Given the description of an element on the screen output the (x, y) to click on. 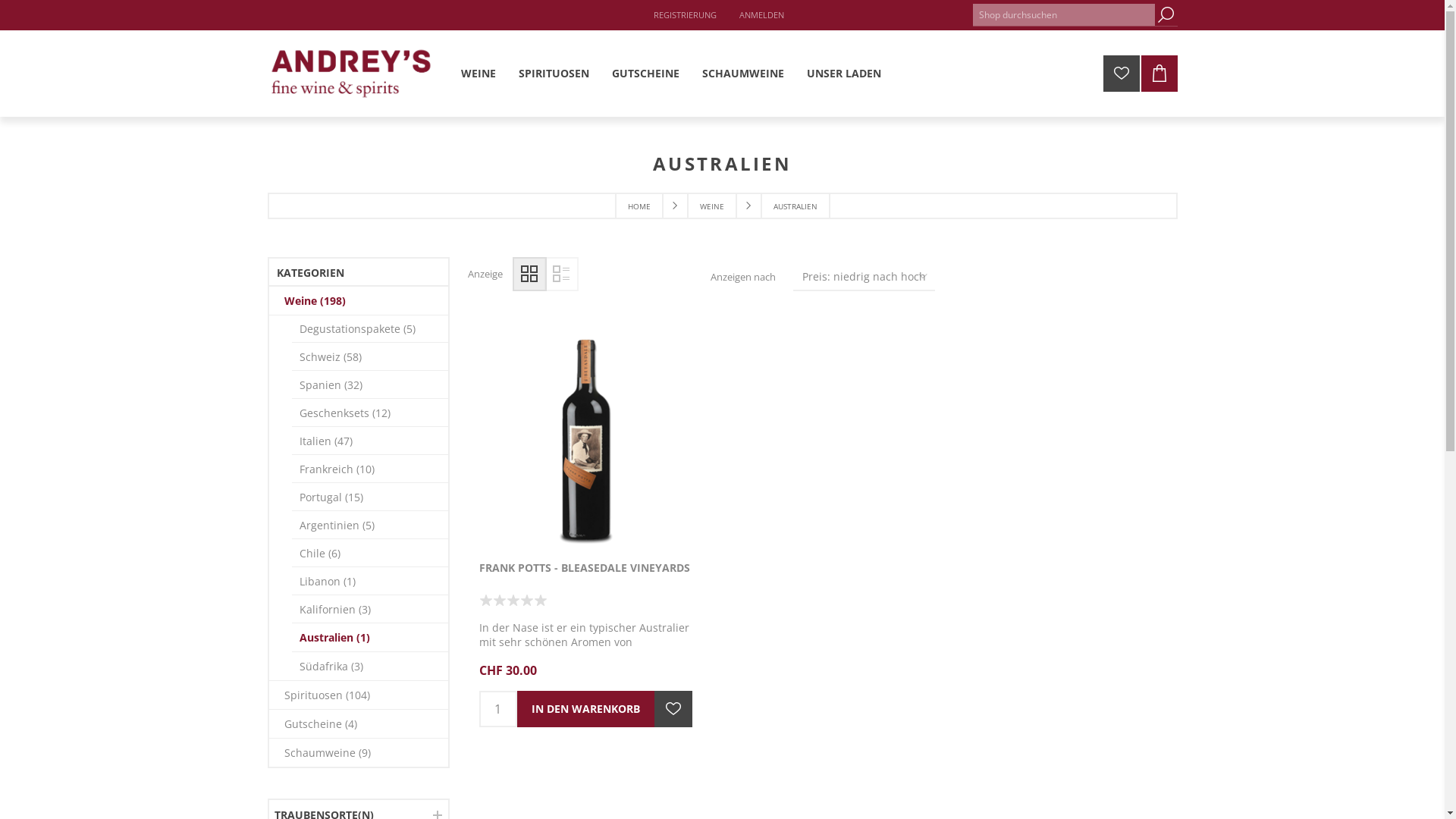
Geschenksets (12) Element type: text (369, 412)
Australien (1) Element type: text (369, 637)
Chile (6) Element type: text (369, 553)
Tabelle Element type: text (529, 274)
Argentinien (5) Element type: text (369, 525)
Spanien (32) Element type: text (369, 384)
Weine (198) Element type: text (357, 300)
Italien (47) Element type: text (369, 440)
SCHAUMWEINE Element type: text (742, 73)
Gutscheine (4) Element type: text (357, 723)
GUTSCHEINE Element type: text (645, 73)
WEINE Element type: text (477, 73)
Portugal (15) Element type: text (369, 497)
UNSER LADEN Element type: text (842, 73)
WEINE Element type: text (712, 205)
Kalifornien (3) Element type: text (369, 609)
ANMELDEN Element type: text (760, 14)
FRANK POTTS - BLEASEDALE VINEYARDS Element type: text (586, 567)
Andrey's Weine & Spirituosen Element type: hover (349, 73)
Degustationspakete (5) Element type: text (369, 328)
0 Bewertung(en) Element type: hover (513, 599)
HOME Element type: text (638, 205)
Liste Element type: text (561, 274)
REGISTRIERUNG Element type: text (684, 14)
Frankreich (10) Element type: text (369, 469)
Schweiz (58) Element type: text (369, 356)
Spirituosen (104) Element type: text (357, 694)
Schaumweine (9) Element type: text (357, 752)
SPIRITUOSEN Element type: text (552, 73)
Libanon (1) Element type: text (369, 581)
Suchen Element type: text (1165, 14)
